Given the description of an element on the screen output the (x, y) to click on. 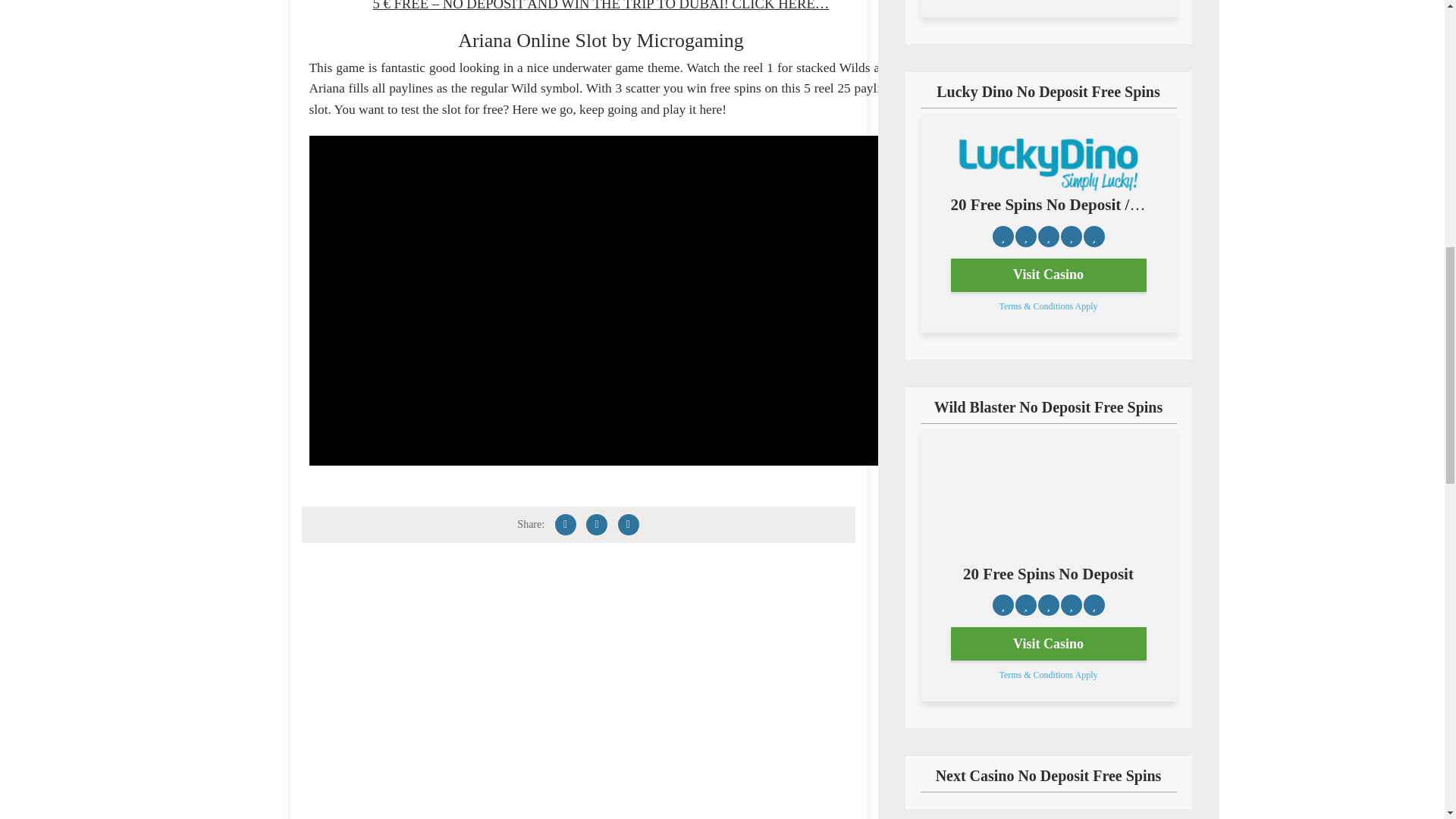
Visit Casino (1048, 643)
Visit Casino (1048, 274)
